Given the description of an element on the screen output the (x, y) to click on. 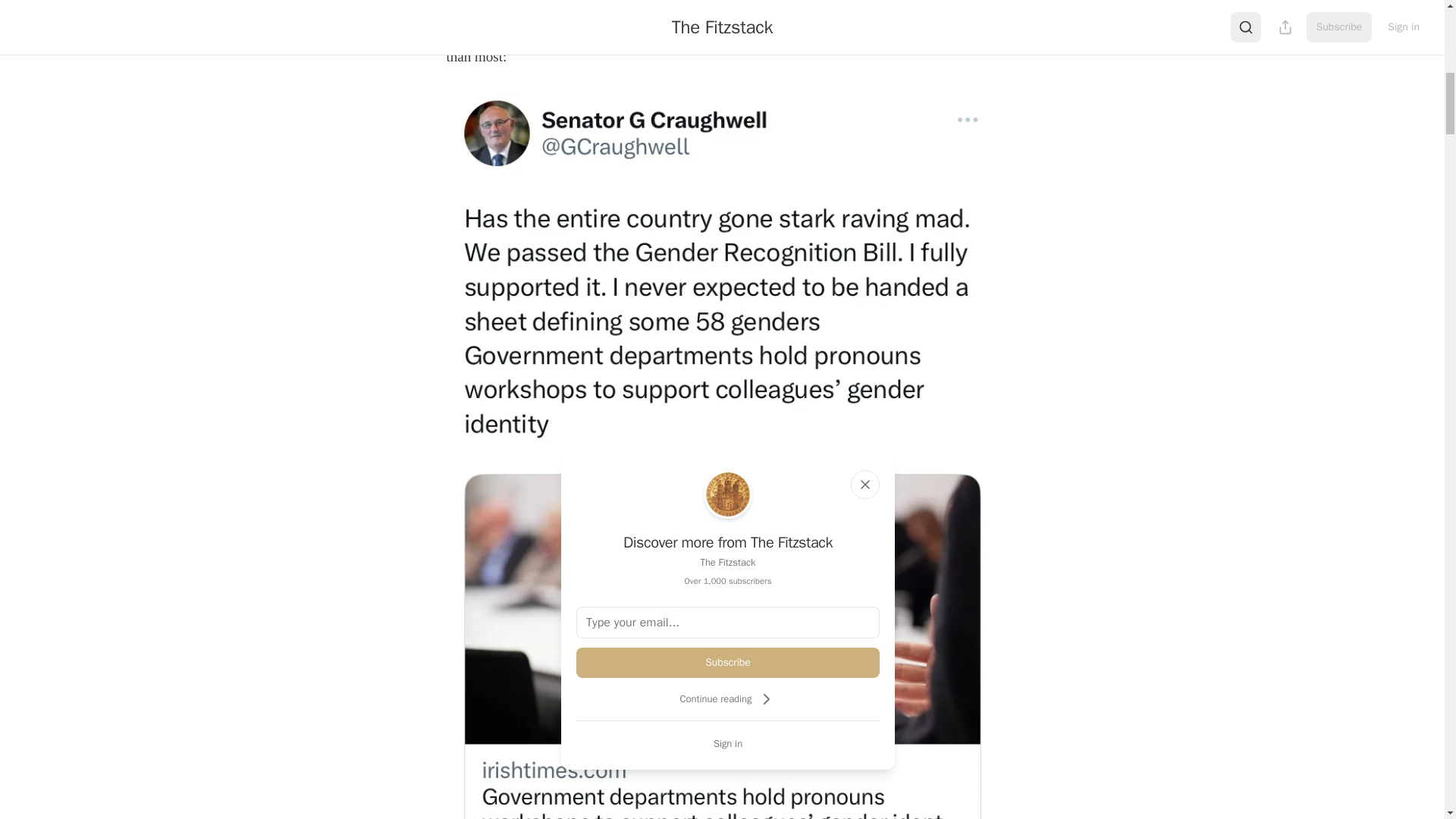
Subscribe (727, 662)
Sign in (727, 743)
